Given the description of an element on the screen output the (x, y) to click on. 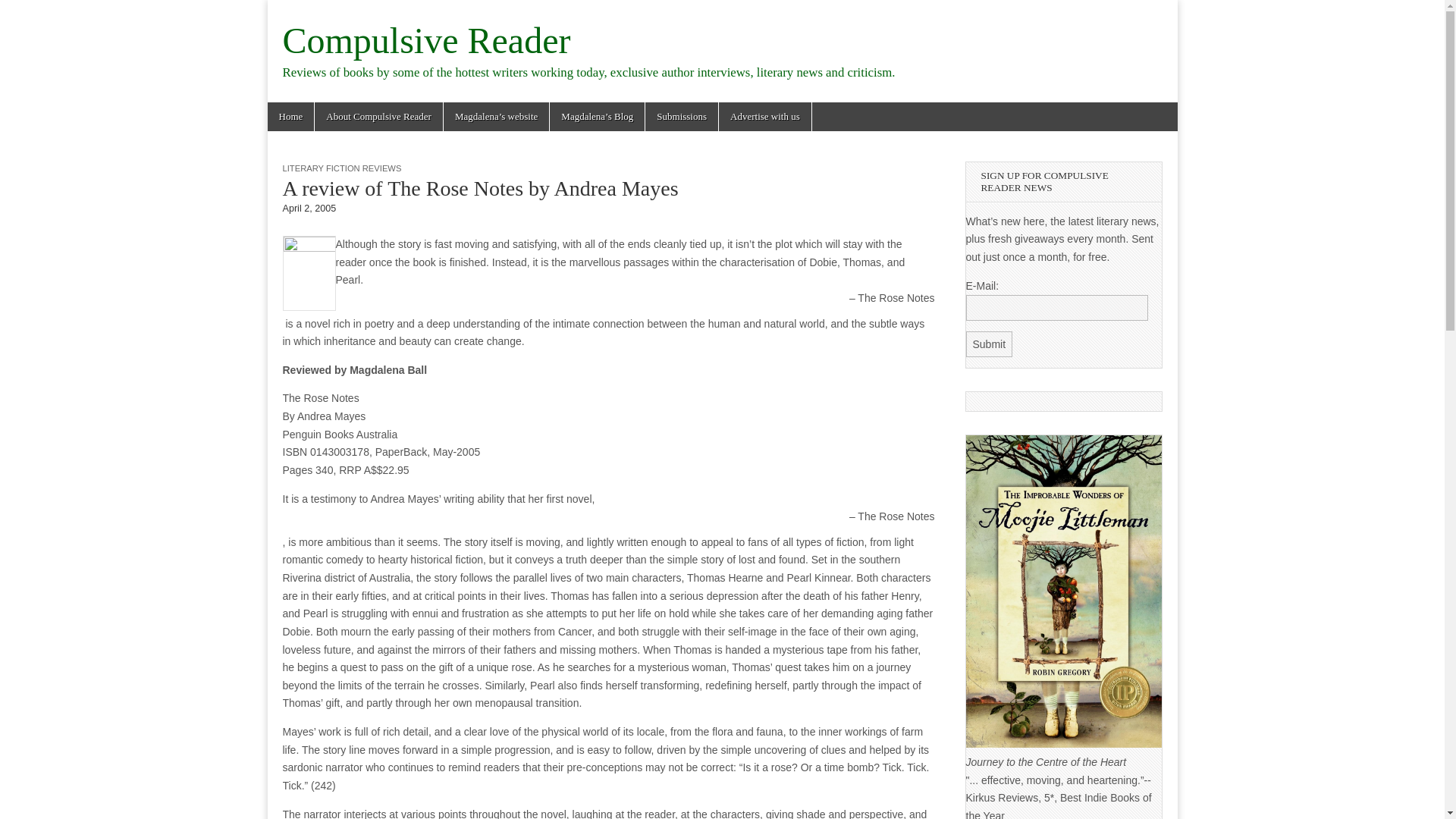
Compulsive Reader (426, 40)
Submit (989, 344)
Home (290, 116)
Compulsive Reader (426, 40)
LITERARY FICTION REVIEWS (341, 167)
Advertise with us (764, 116)
Search (23, 12)
About Compulsive Reader (378, 116)
Submit (989, 344)
Submissions (681, 116)
